Given the description of an element on the screen output the (x, y) to click on. 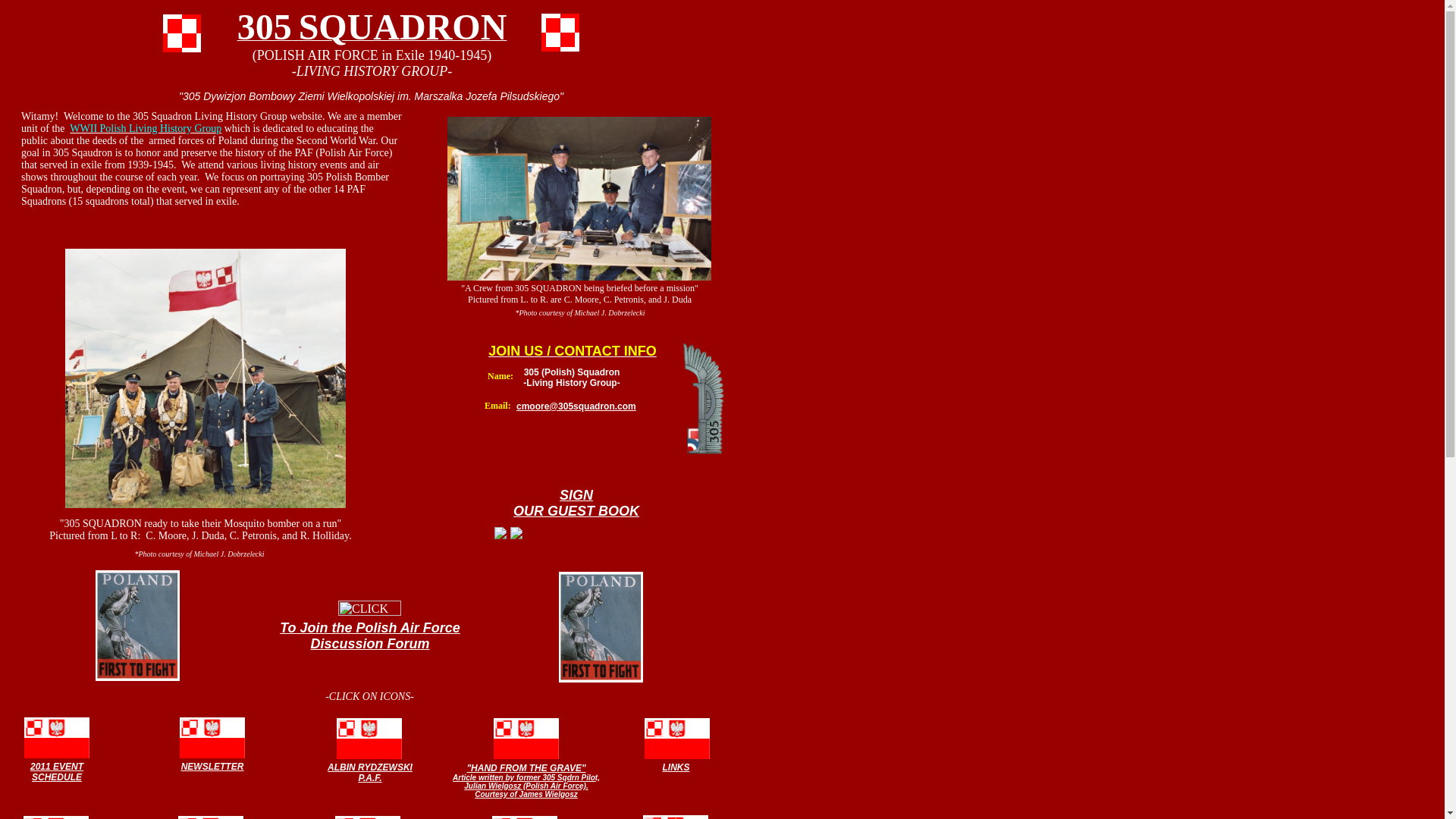
ALBIN RYDZEWSKI
P.A.F. Element type: text (369, 771)
WWII Polish Living History Group Element type: text (145, 127)
NEWSLETTER Element type: text (212, 765)
LINKS Element type: text (676, 765)
2011 EVENT SCHEDULE Element type: text (56, 770)
"HAND FROM THE GRAVE" Element type: text (525, 766)
cmoore@305squadron.com Element type: text (576, 404)
